Given the description of an element on the screen output the (x, y) to click on. 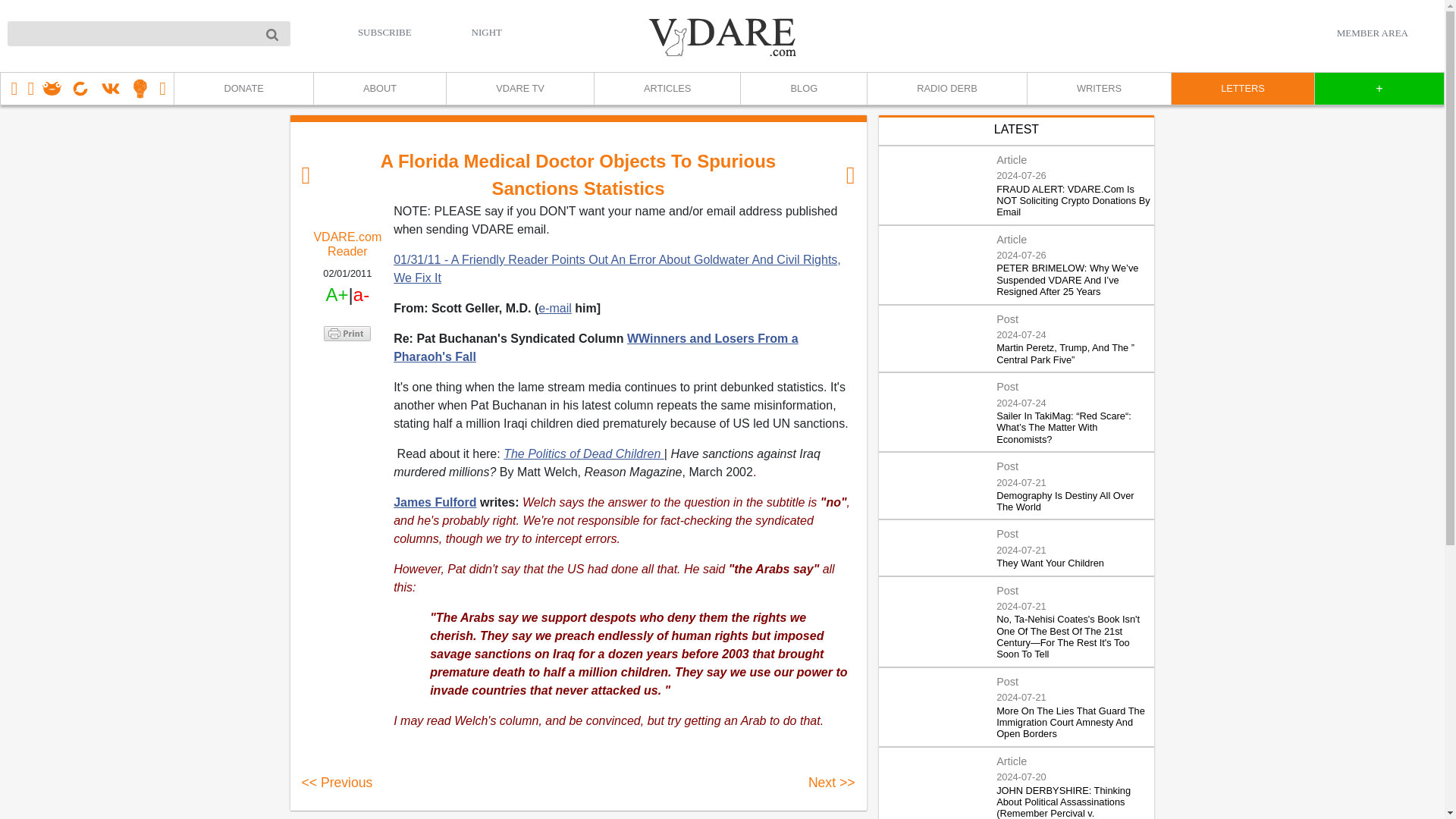
SUBSCRIBE (385, 31)
VDARE TV (519, 88)
MEMBER AREA (1371, 32)
WRITERS (1098, 88)
DONATE (243, 88)
LETTERS (1242, 88)
Share to Email (347, 418)
BLOG (802, 88)
Printer Friendly and PDF (347, 333)
ABOUT (379, 88)
